Given the description of an element on the screen output the (x, y) to click on. 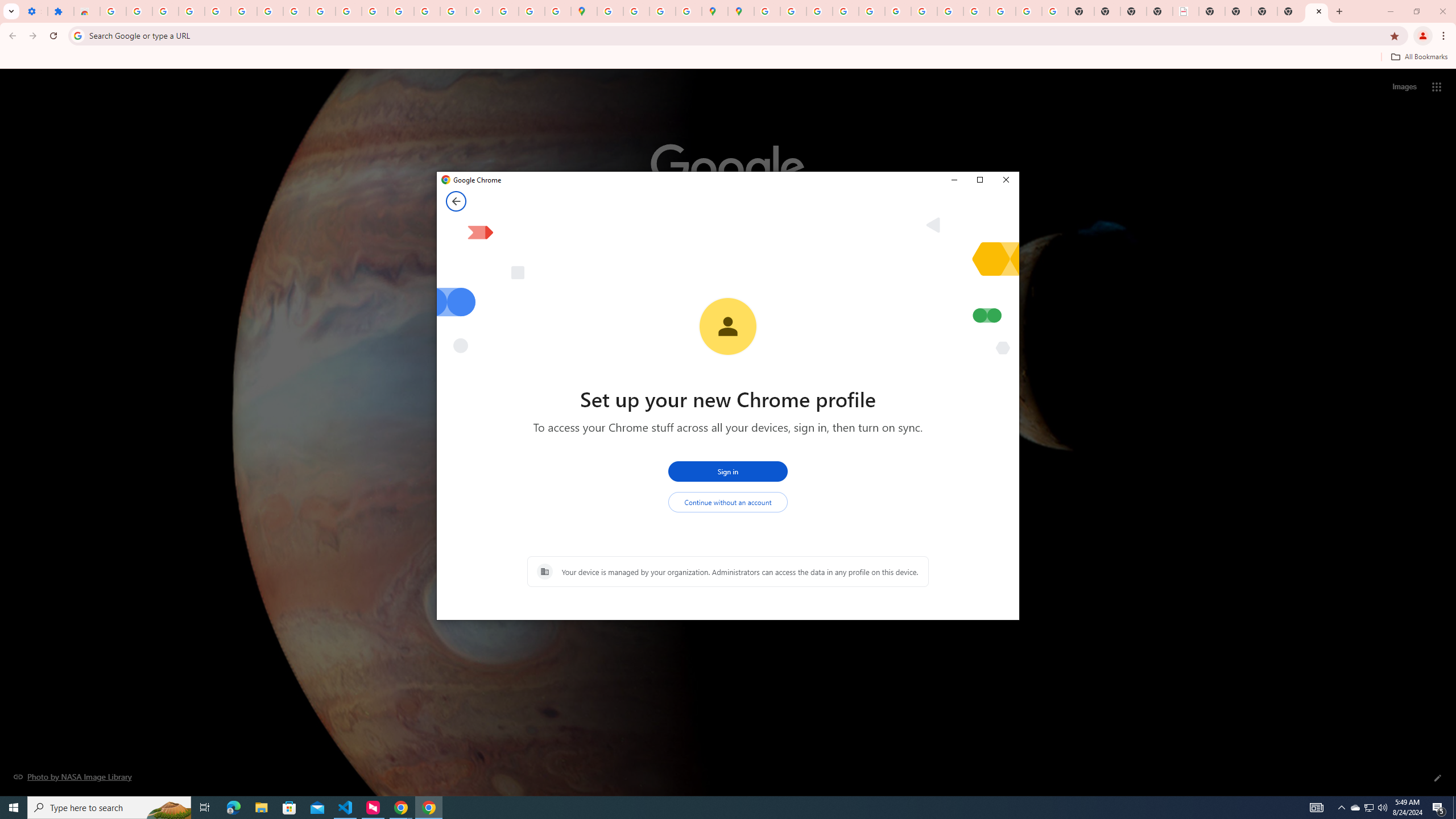
Google Maps (584, 11)
Show desktop (1454, 807)
Task View (204, 807)
Maximize (979, 180)
